Given the description of an element on the screen output the (x, y) to click on. 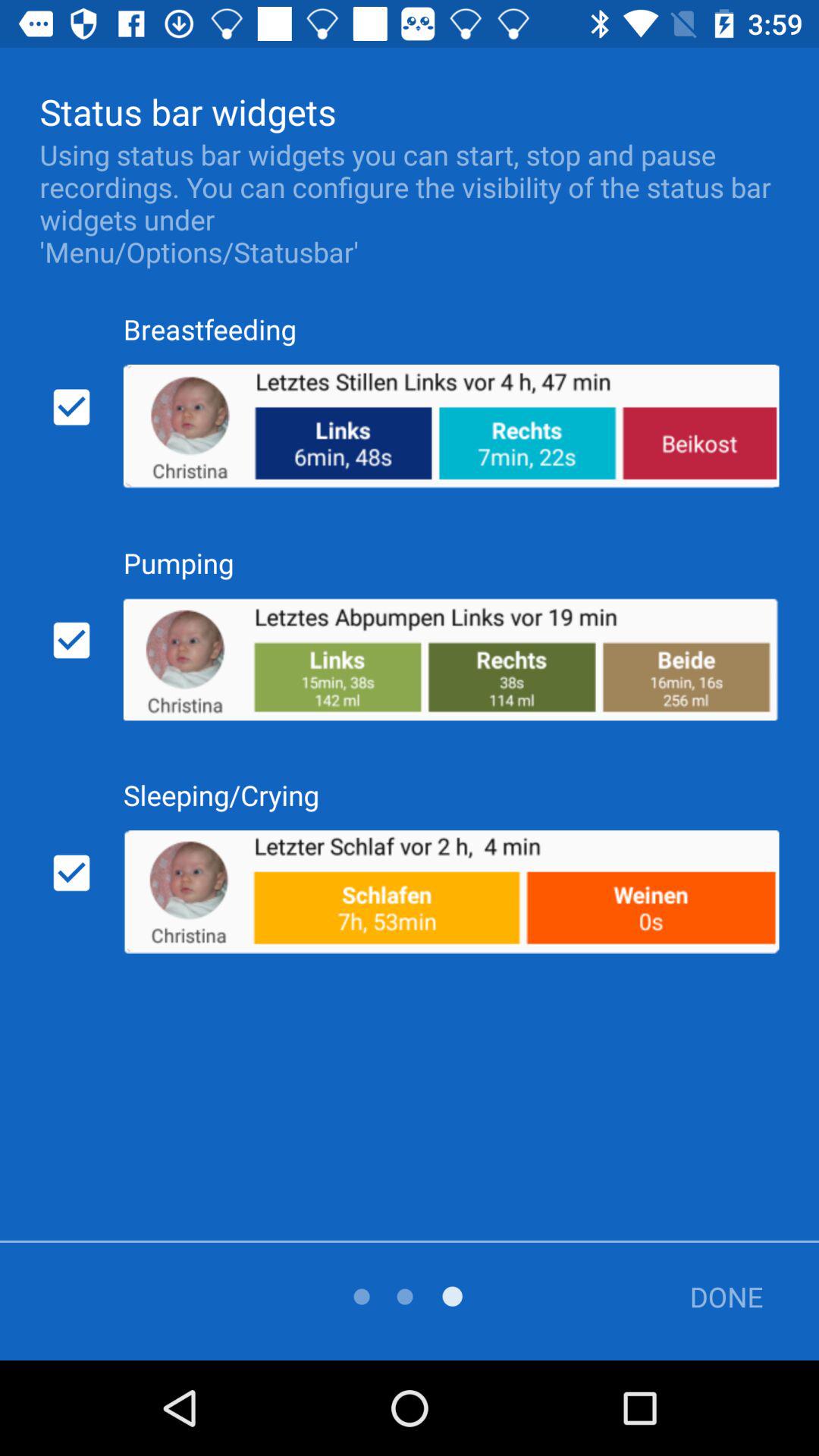
toggle visibility of status bar widgets (71, 407)
